Given the description of an element on the screen output the (x, y) to click on. 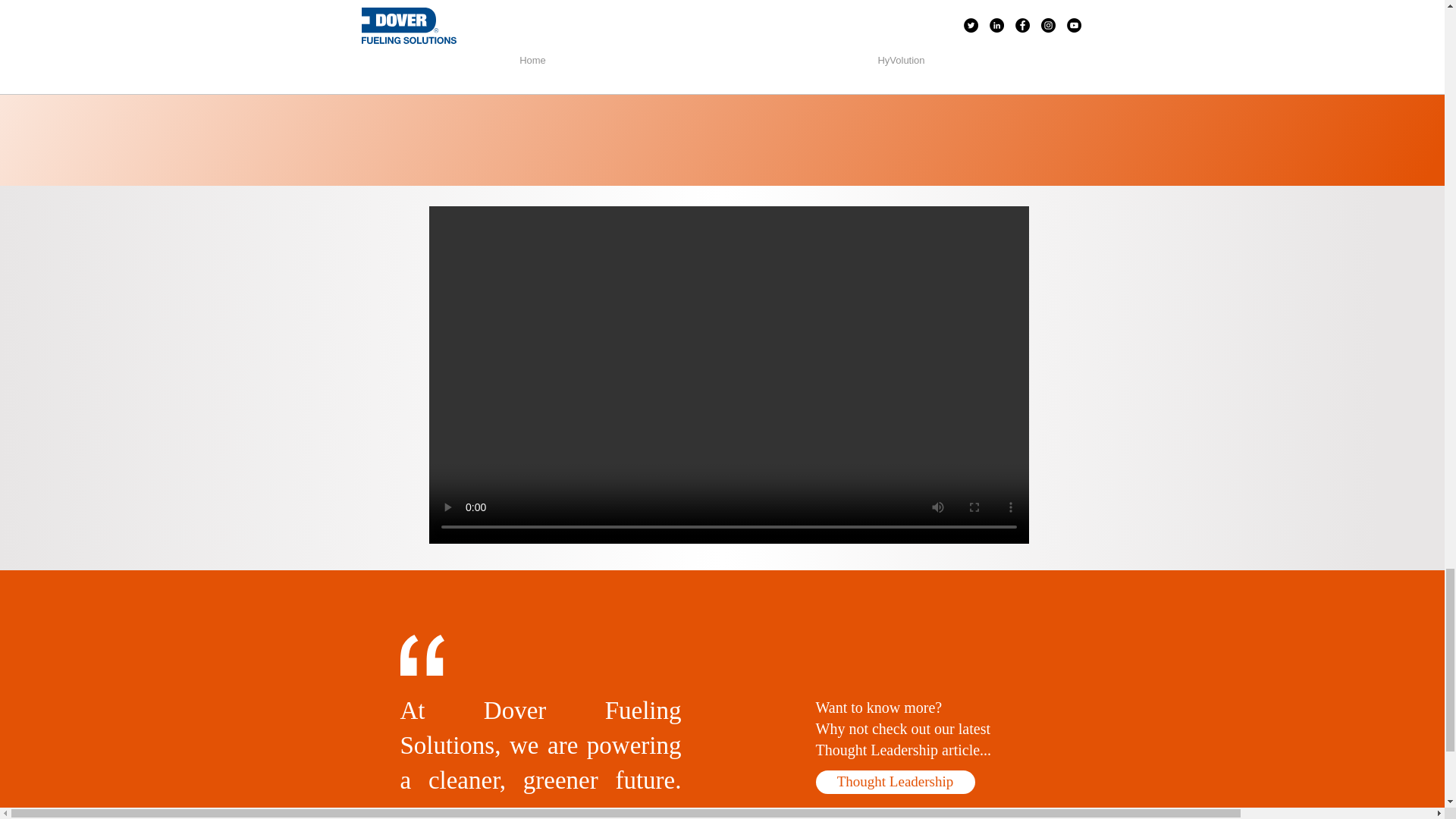
Thought Leadership (895, 781)
